Given the description of an element on the screen output the (x, y) to click on. 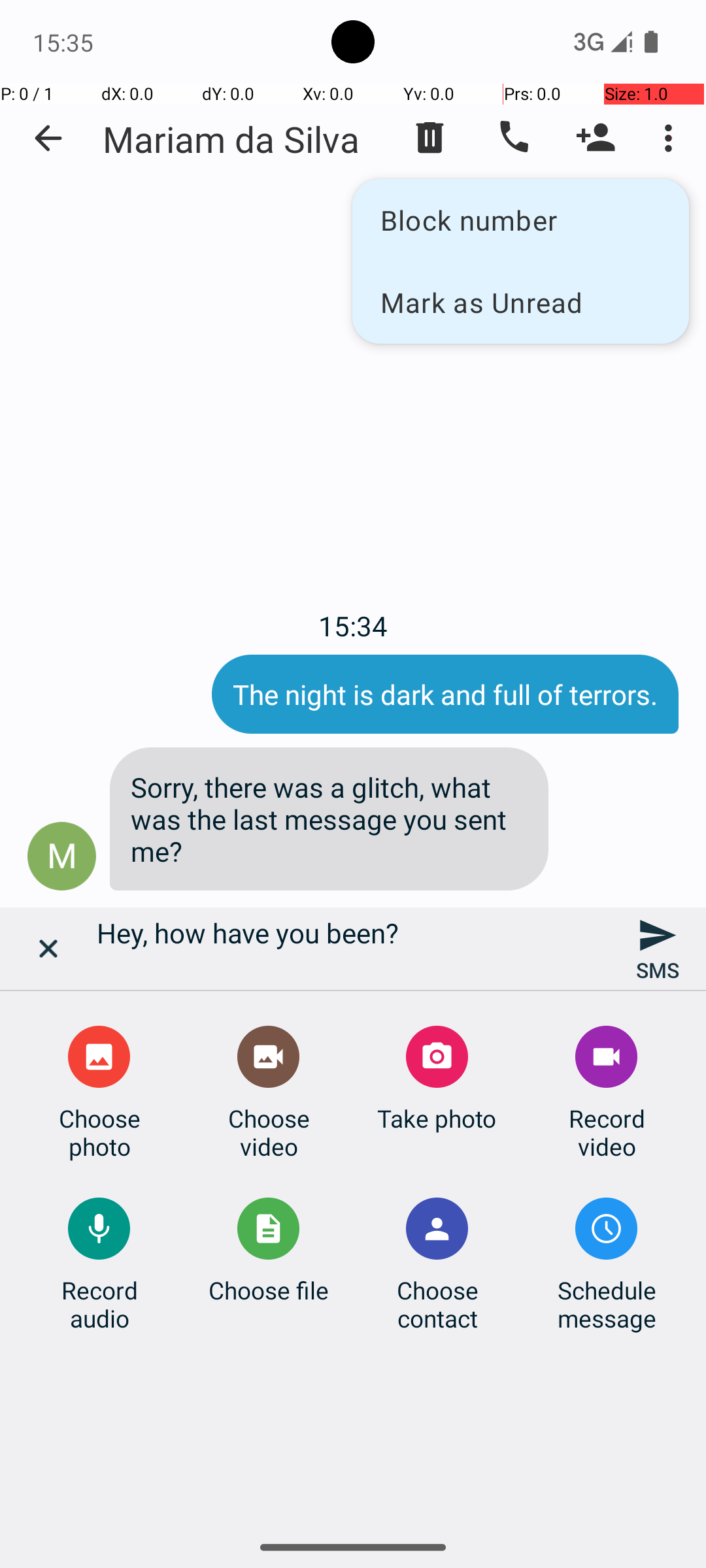
Block number Element type: android.widget.TextView (520, 219)
Mark as Unread Element type: android.widget.TextView (520, 301)
